Given the description of an element on the screen output the (x, y) to click on. 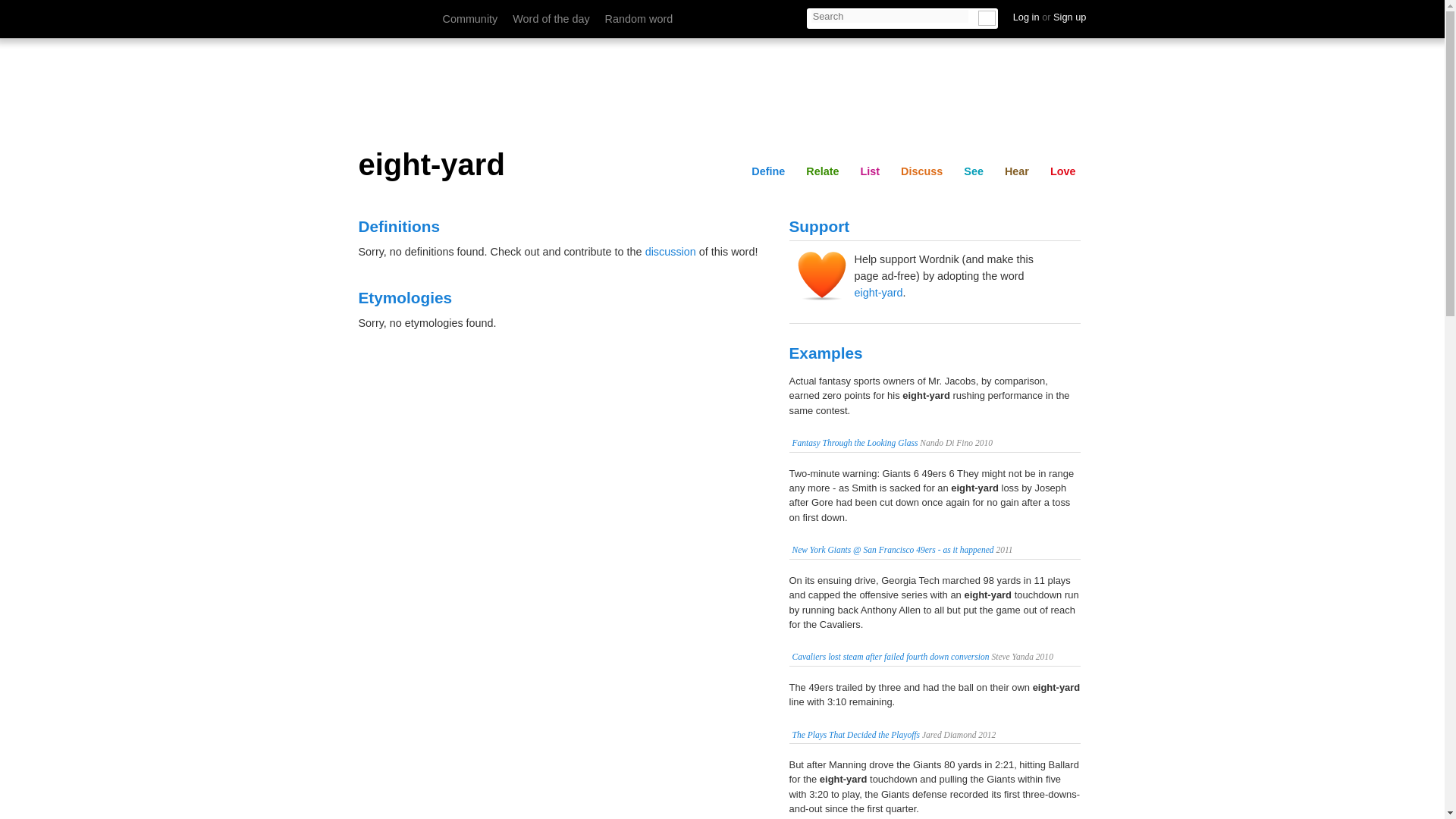
Love (1062, 171)
Log in or Sign up (1049, 16)
eight-yard (722, 164)
Define (798, 16)
The Plays That Decided the Playoffs (856, 734)
Word of the day (550, 19)
Random Word (638, 19)
Define (767, 171)
Community (469, 19)
Word of the Day (550, 19)
Cavaliers lost steam after failed fourth down conversion (890, 655)
Relate (854, 16)
Community (469, 19)
Hear (1063, 16)
Log in or Sign Up (1049, 16)
